Given the description of an element on the screen output the (x, y) to click on. 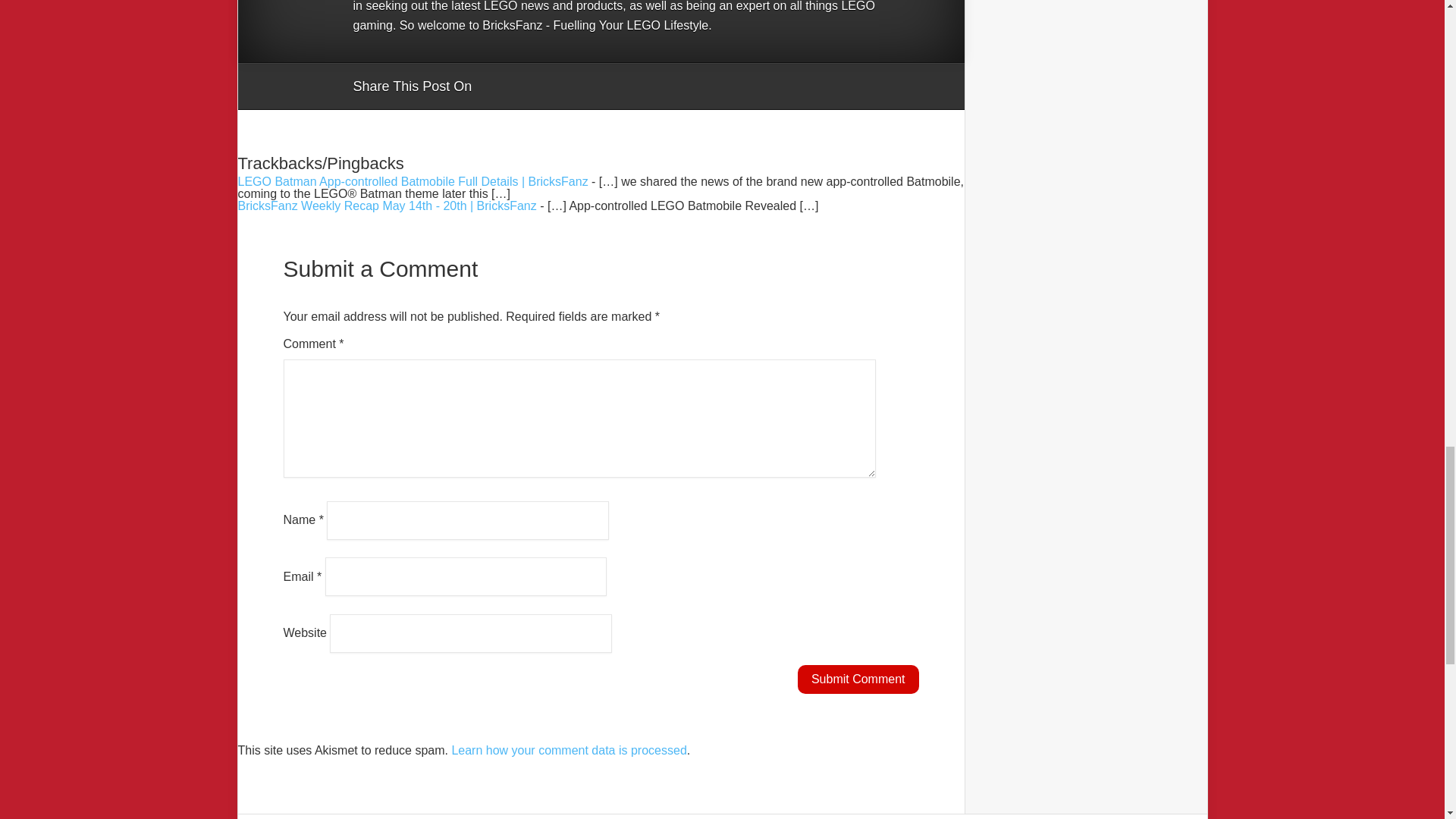
Learn how your comment data is processed (568, 749)
Facebook (526, 87)
Submit Comment (857, 679)
Twitter (555, 87)
Google (498, 87)
Submit Comment (857, 679)
